Given the description of an element on the screen output the (x, y) to click on. 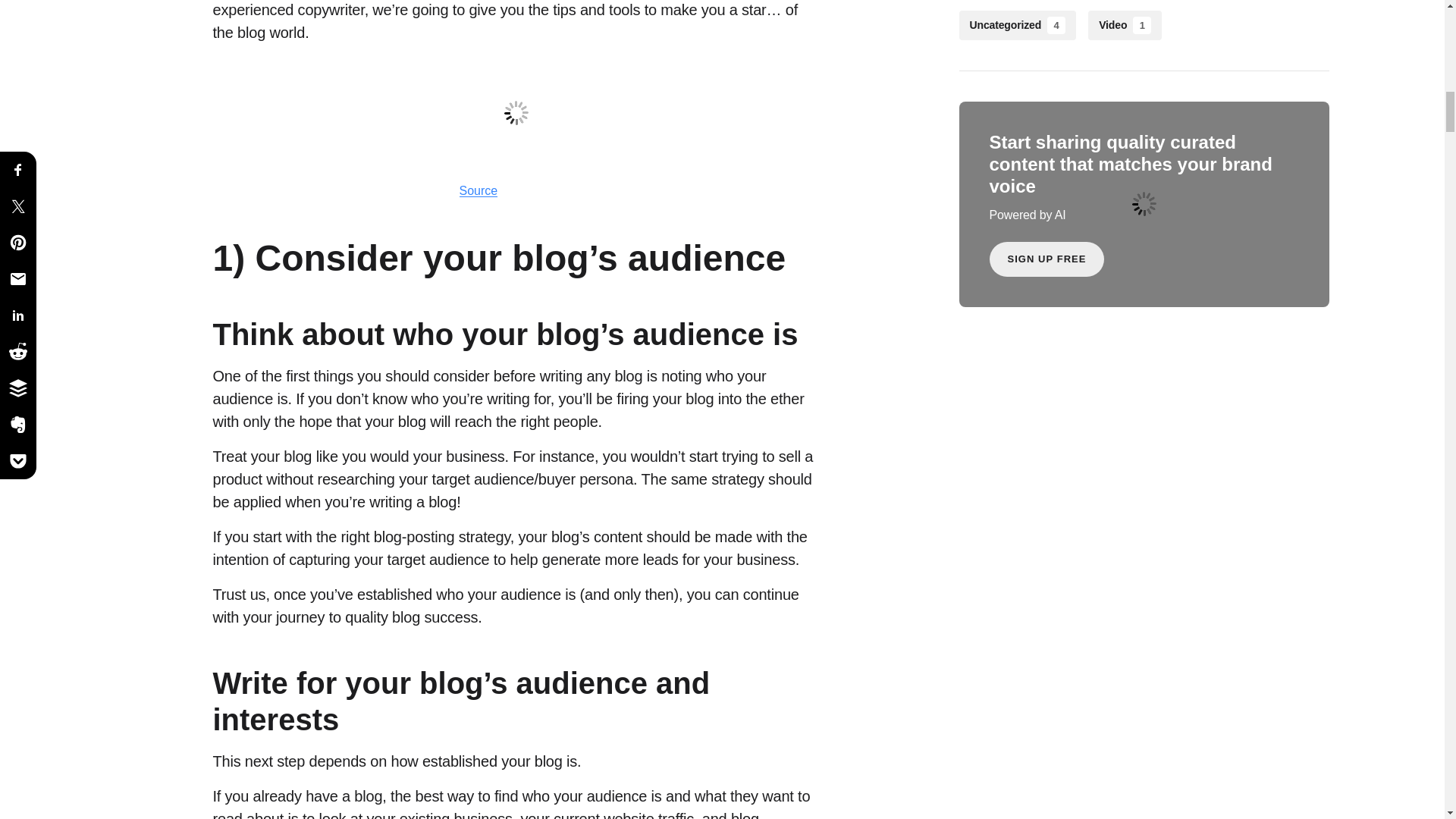
Source (478, 191)
